Given the description of an element on the screen output the (x, y) to click on. 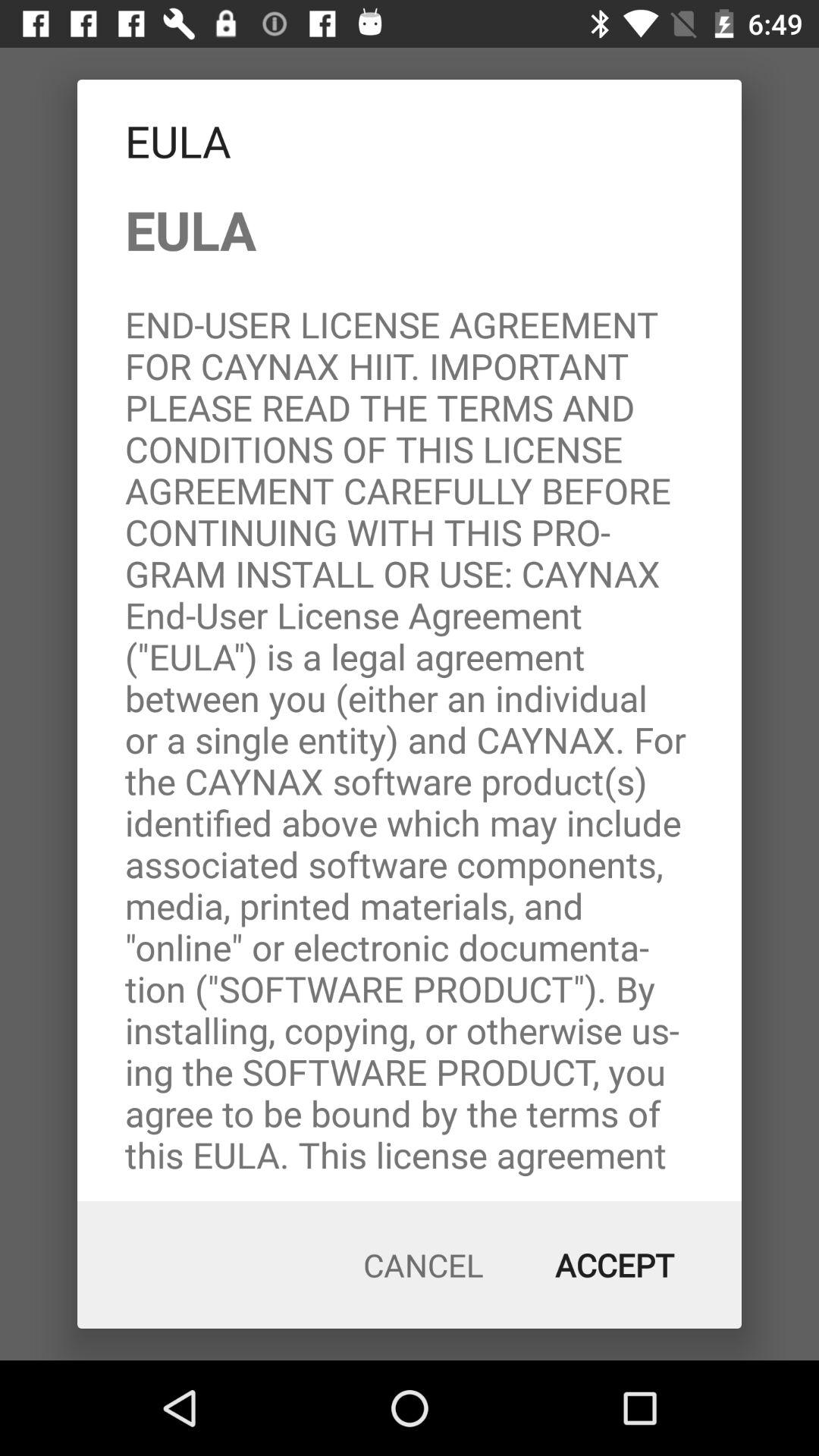
select item at the bottom right corner (613, 1264)
